Given the description of an element on the screen output the (x, y) to click on. 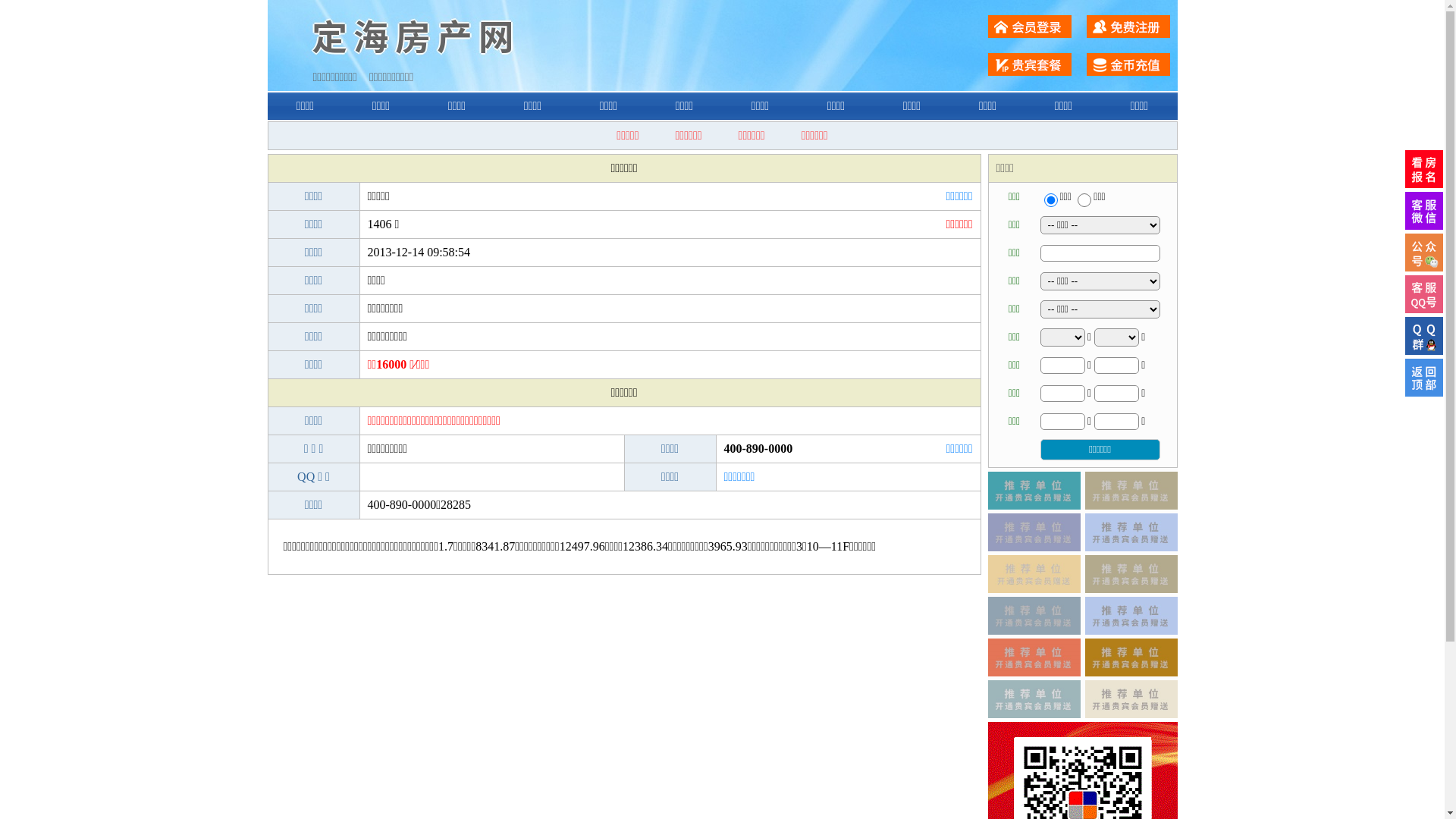
ershou Element type: text (1050, 200)
chuzu Element type: text (1084, 200)
